Given the description of an element on the screen output the (x, y) to click on. 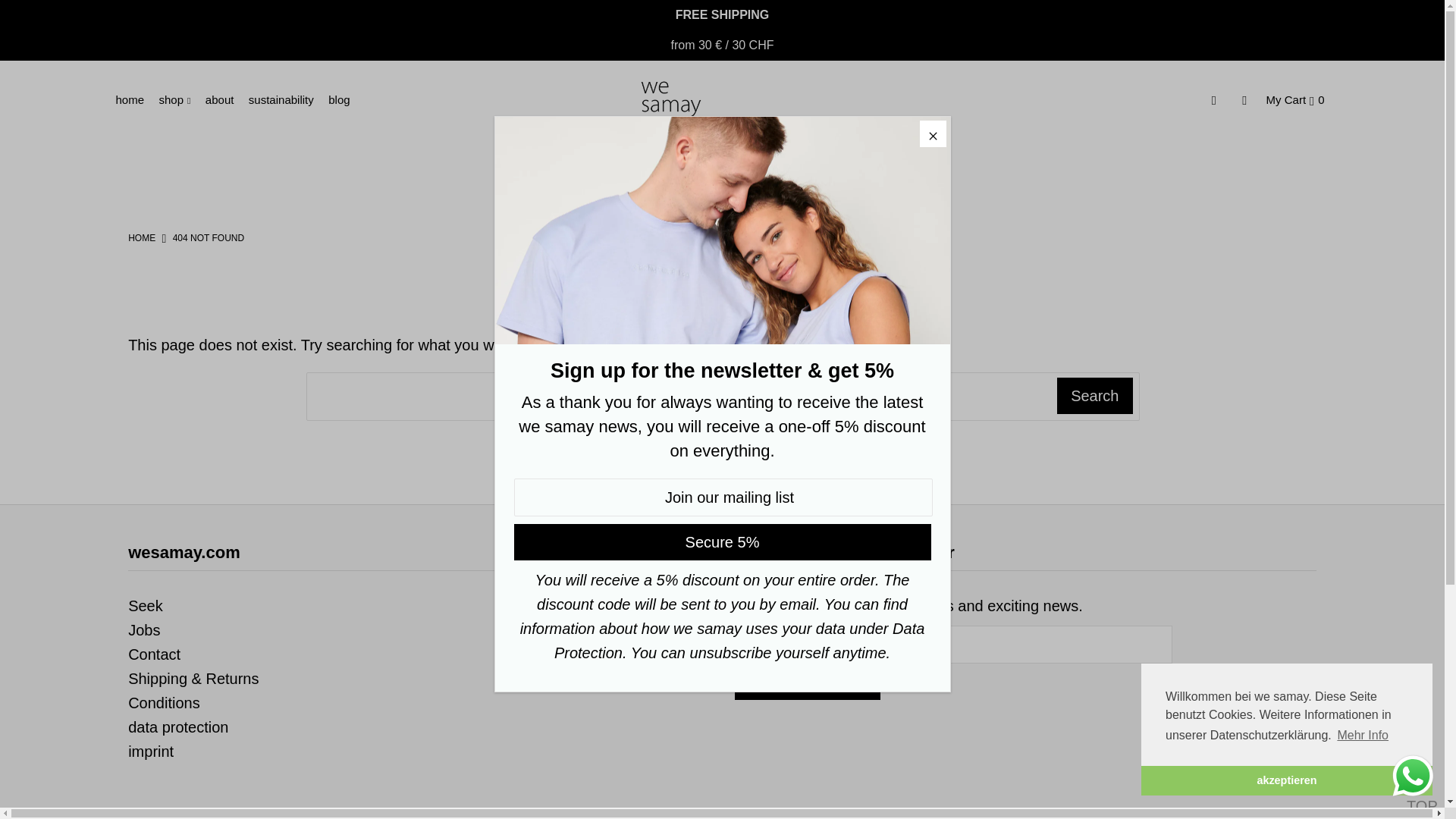
Join (807, 681)
Mehr Info (1362, 734)
Search (1094, 395)
TOP (1417, 780)
about (225, 99)
sustainability (286, 99)
akzeptieren (1286, 780)
home (135, 99)
blog (345, 99)
shop (180, 99)
Home (141, 237)
